Given the description of an element on the screen output the (x, y) to click on. 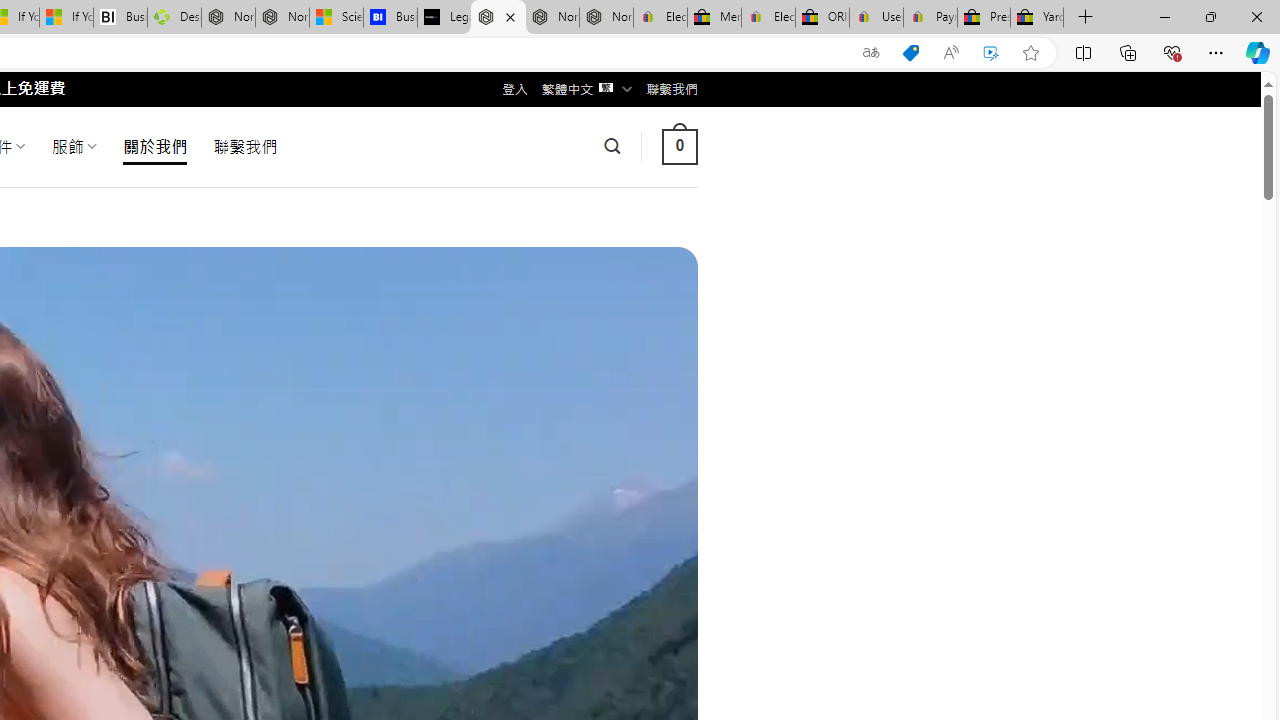
 0  (679, 146)
